Given the description of an element on the screen output the (x, y) to click on. 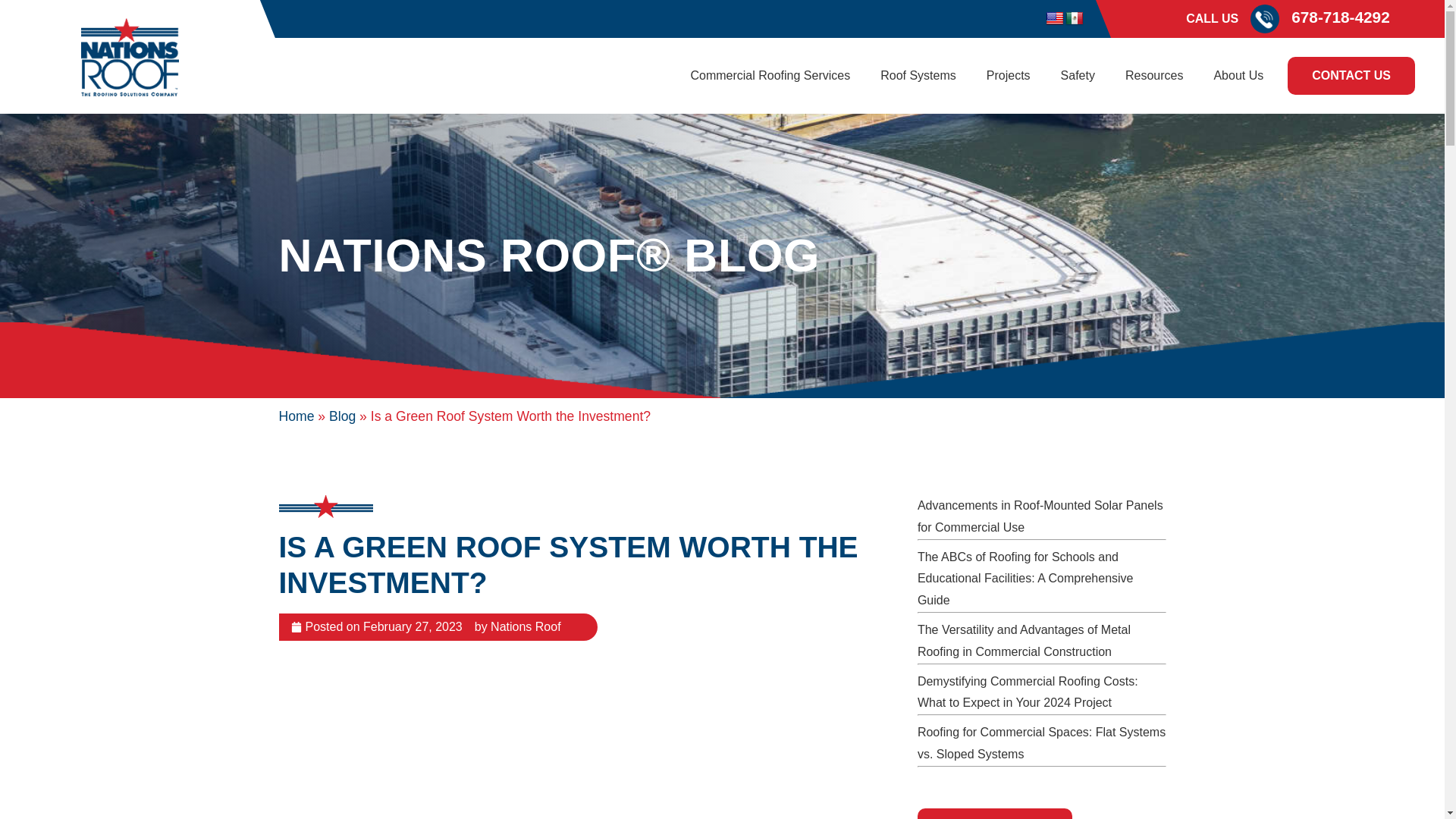
English (1054, 18)
Projects (1008, 76)
Safety (1077, 76)
About Us (1238, 76)
Commercial Roofing Services (769, 76)
Spanish (1074, 18)
Resources (1154, 76)
Roof Systems (917, 76)
green-roof-system-scaled (586, 748)
